Given the description of an element on the screen output the (x, y) to click on. 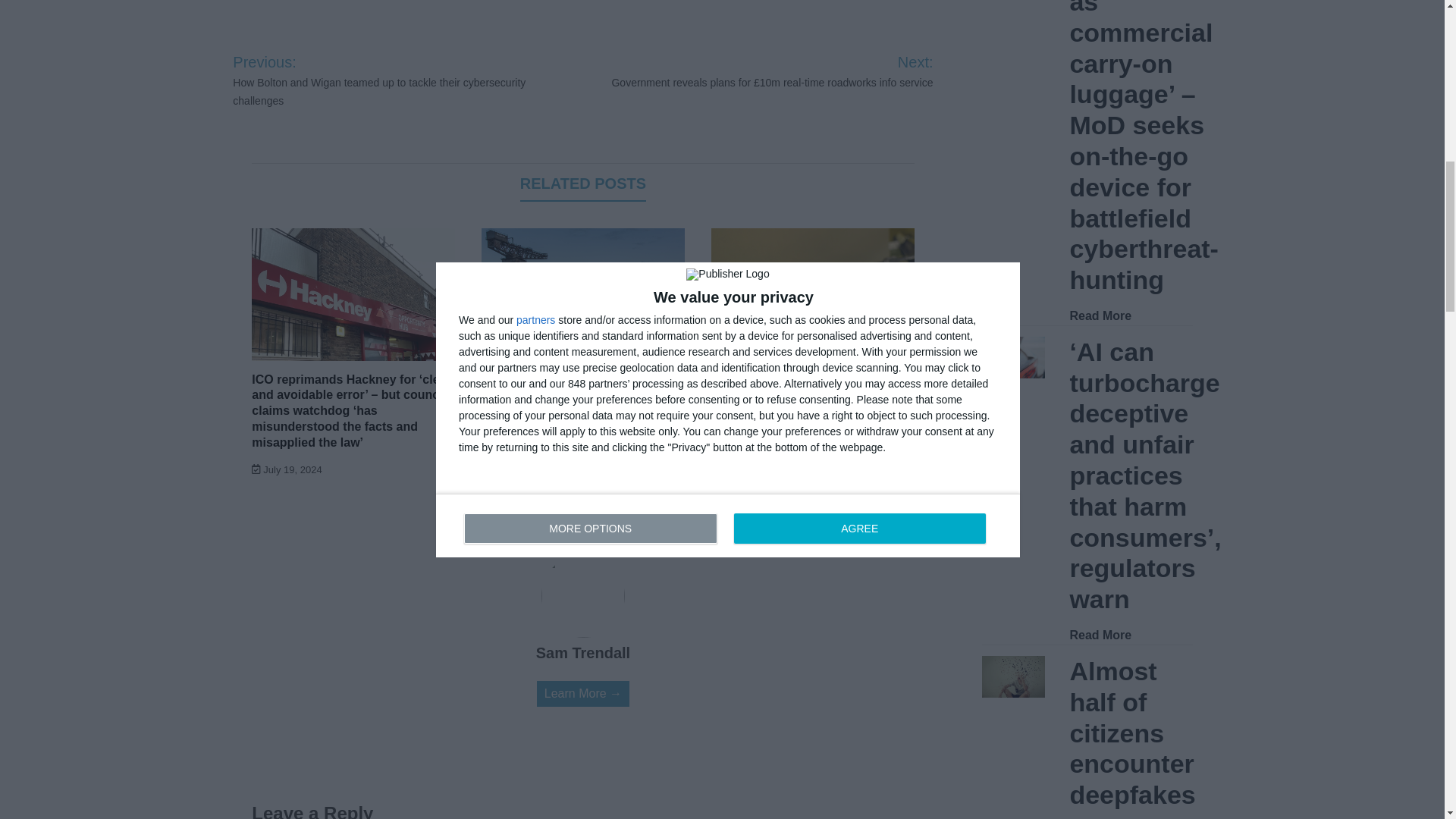
July 19, 2024 (286, 469)
